Given the description of an element on the screen output the (x, y) to click on. 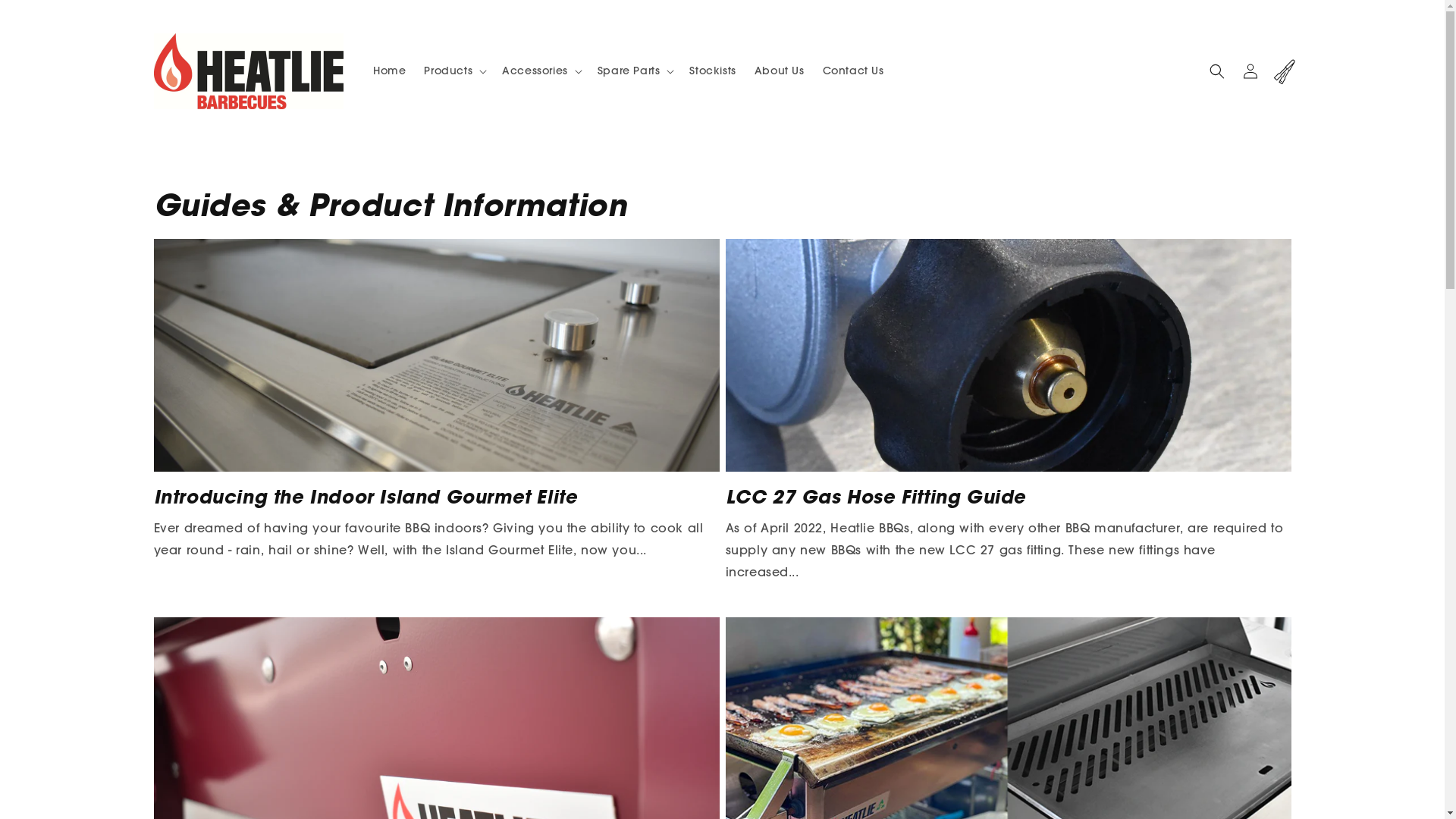
Introducing the Indoor Island Gourmet Elite Element type: text (435, 496)
Contact Us Element type: text (853, 70)
Cart Element type: text (1282, 70)
About Us Element type: text (779, 70)
LCC 27 Gas Hose Fitting Guide Element type: text (1007, 496)
Log in Element type: text (1249, 70)
Stockists Element type: text (712, 70)
Home Element type: text (389, 70)
